Given the description of an element on the screen output the (x, y) to click on. 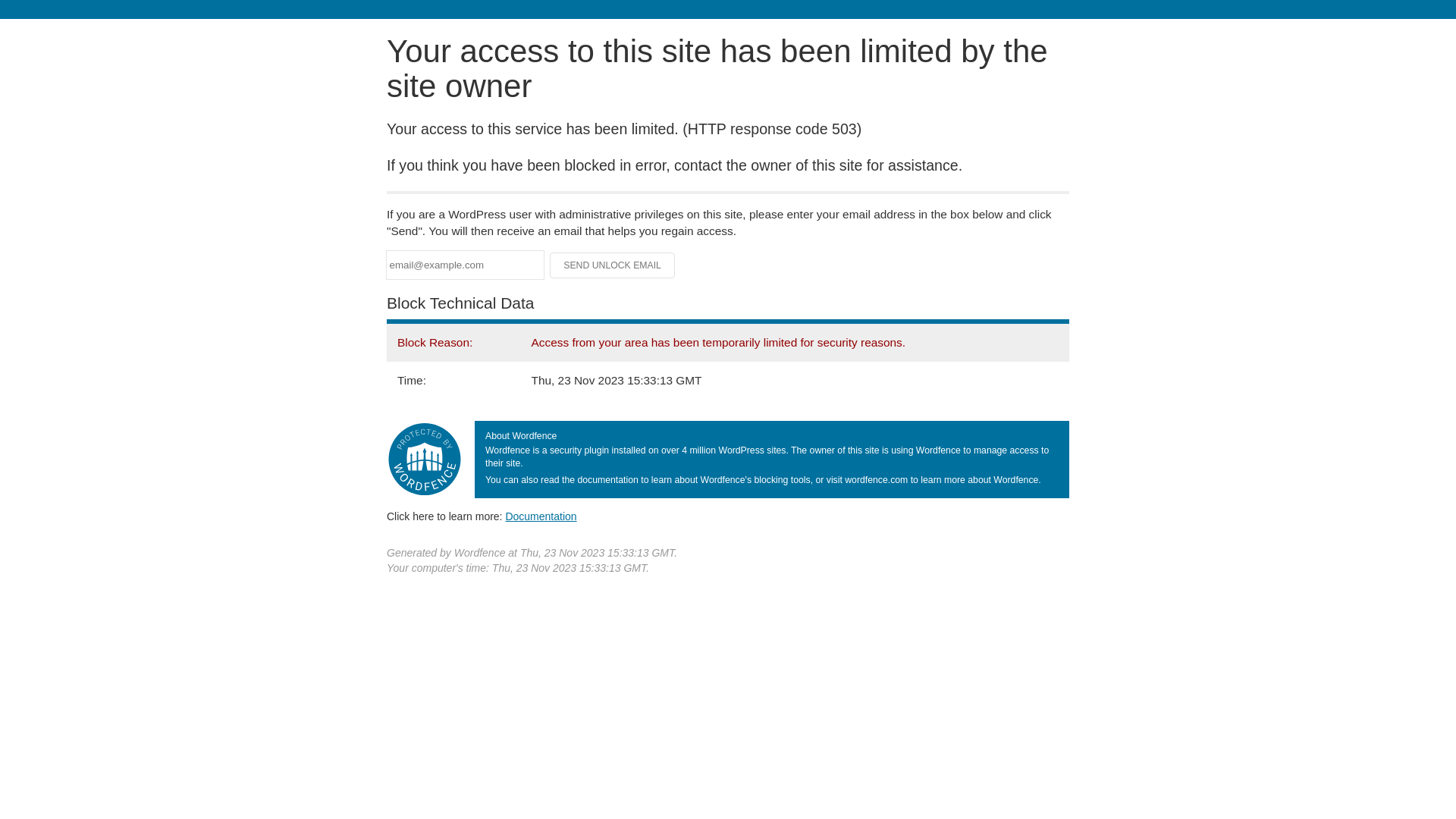
Documentation Element type: text (540, 516)
Send Unlock Email Element type: text (612, 265)
